Given the description of an element on the screen output the (x, y) to click on. 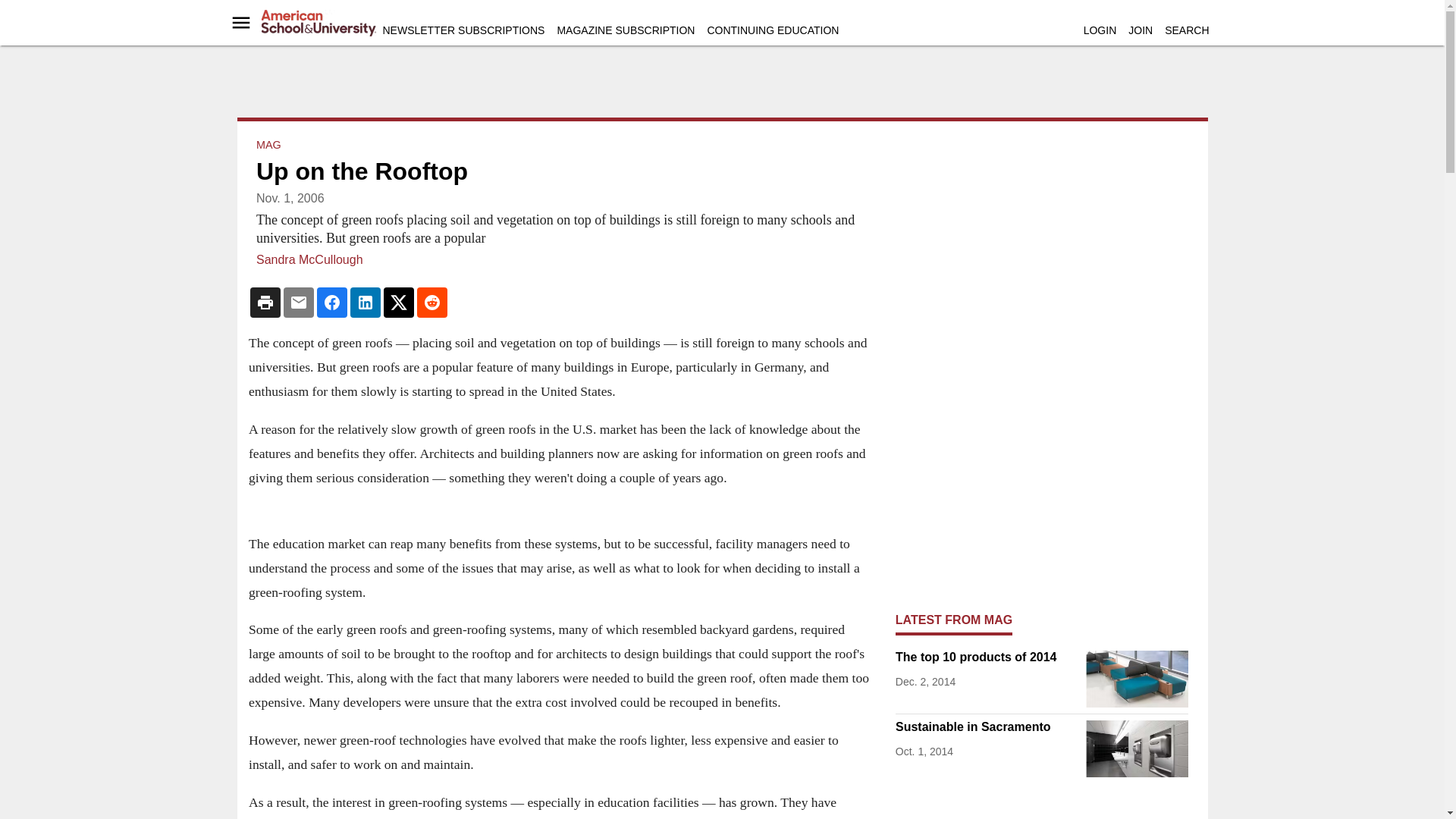
JOIN (1140, 30)
LOGIN (1099, 30)
MAGAZINE SUBSCRIPTION (625, 30)
MAG (268, 144)
Image (1137, 748)
NEWSLETTER SUBSCRIPTIONS (462, 30)
Image (1137, 678)
SEARCH (1186, 30)
Sandra McCullough (309, 259)
CONTINUING EDUCATION (772, 30)
